Given the description of an element on the screen output the (x, y) to click on. 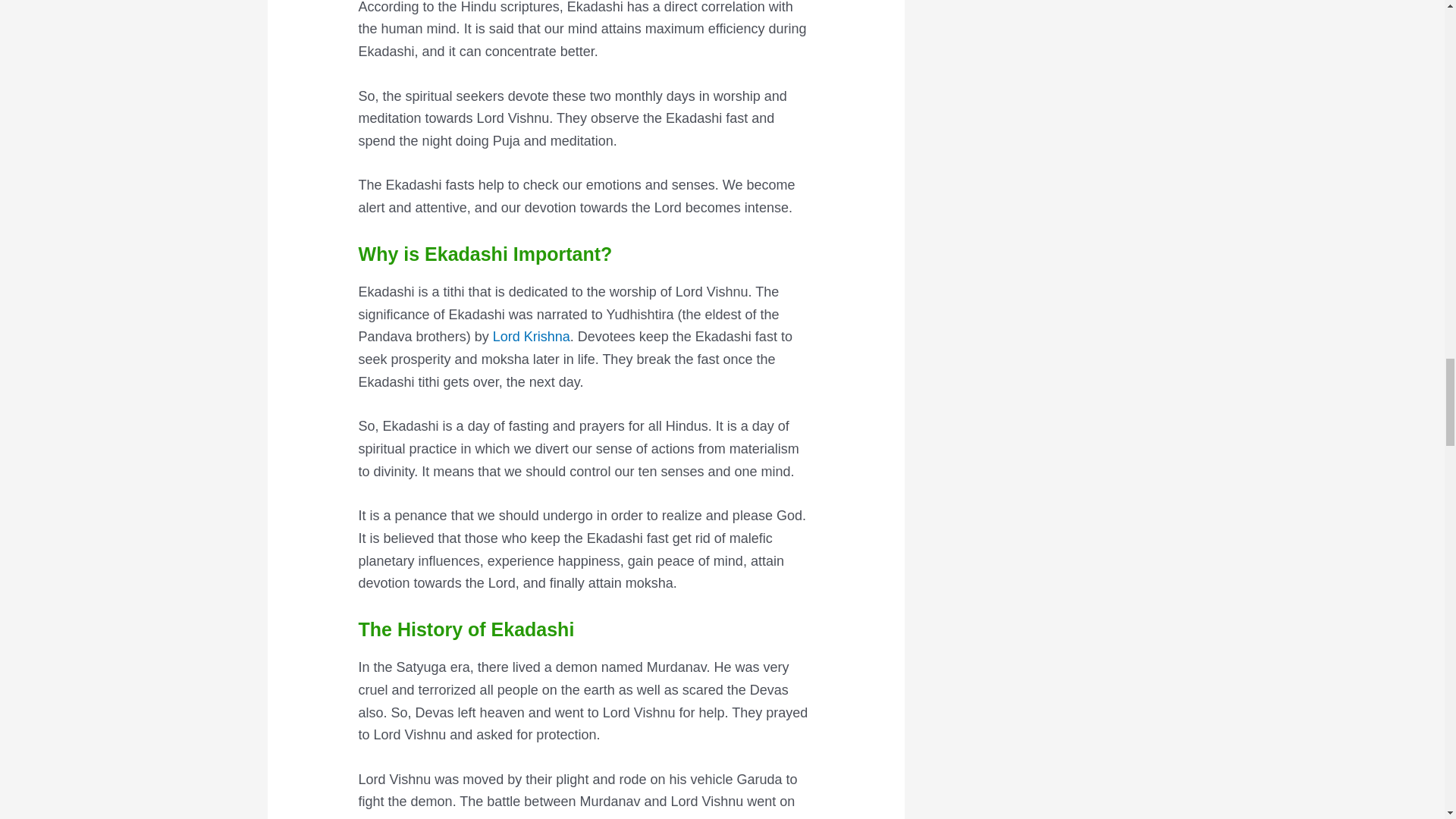
Lord Krishna (531, 336)
